Given the description of an element on the screen output the (x, y) to click on. 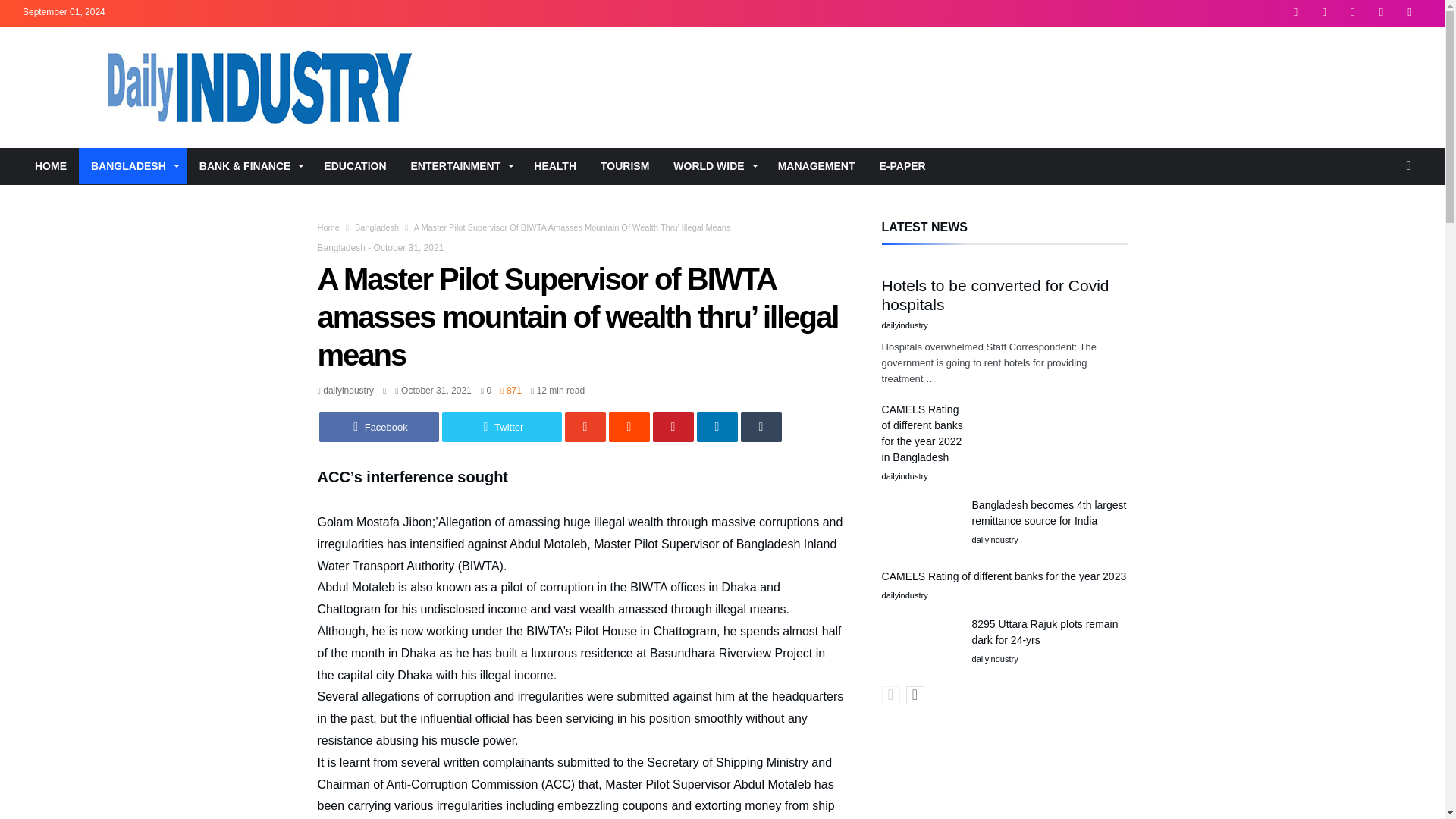
Bangladesh (376, 226)
Dribbble (1380, 13)
Facebook (1294, 13)
HEALTH (554, 166)
HOME (50, 166)
The Daily Industry (401, 48)
facebook (378, 426)
Bangladesh (341, 247)
linkedin (715, 426)
pinterest (672, 426)
